Given the description of an element on the screen output the (x, y) to click on. 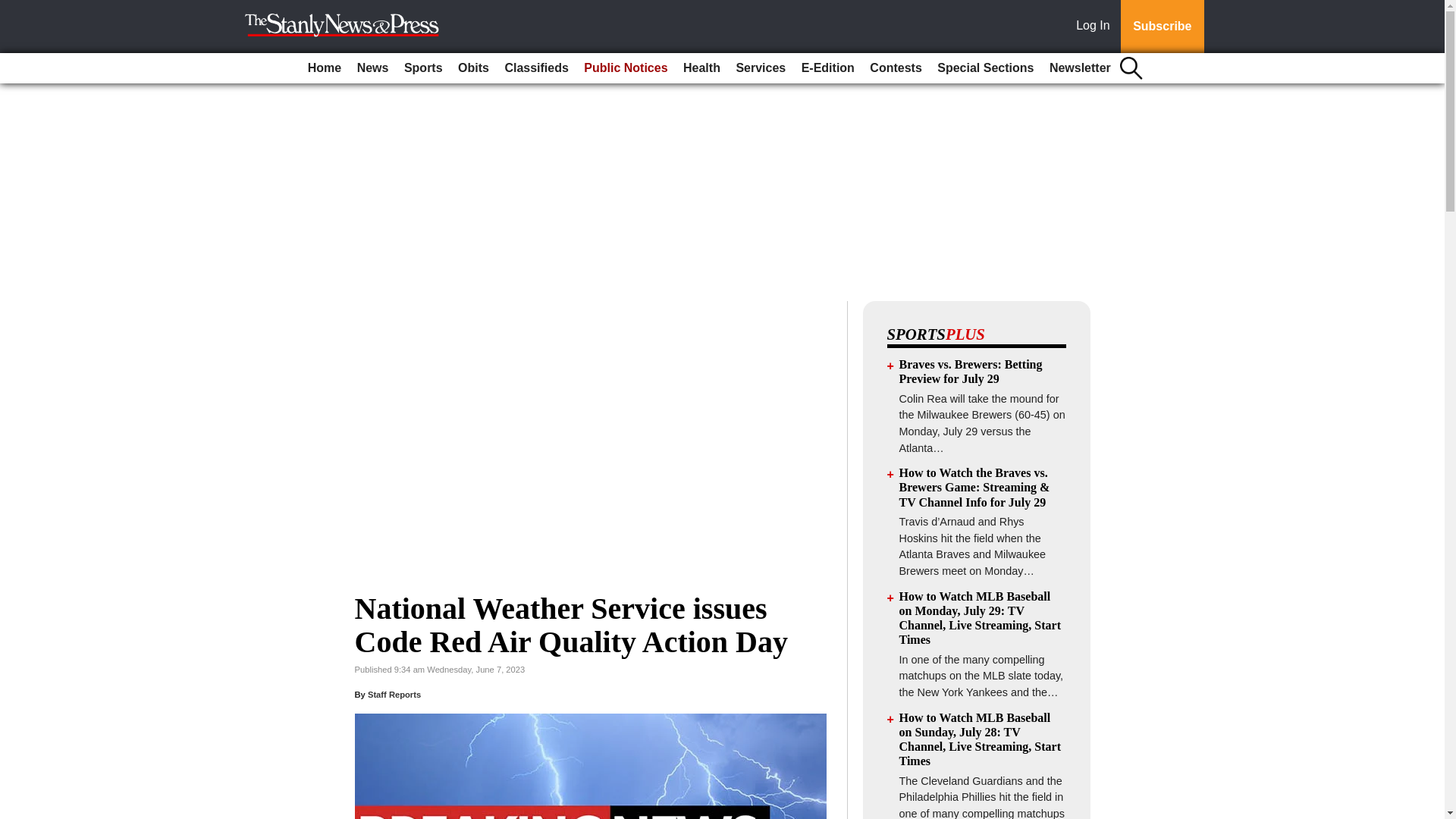
Go (13, 9)
Services (760, 68)
Subscribe (1162, 26)
Home (324, 68)
Obits (473, 68)
Public Notices (625, 68)
Health (701, 68)
Log In (1095, 26)
Special Sections (985, 68)
Sports (422, 68)
Newsletter (1079, 68)
News (372, 68)
Staff Reports (394, 694)
E-Edition (827, 68)
Contests (895, 68)
